Given the description of an element on the screen output the (x, y) to click on. 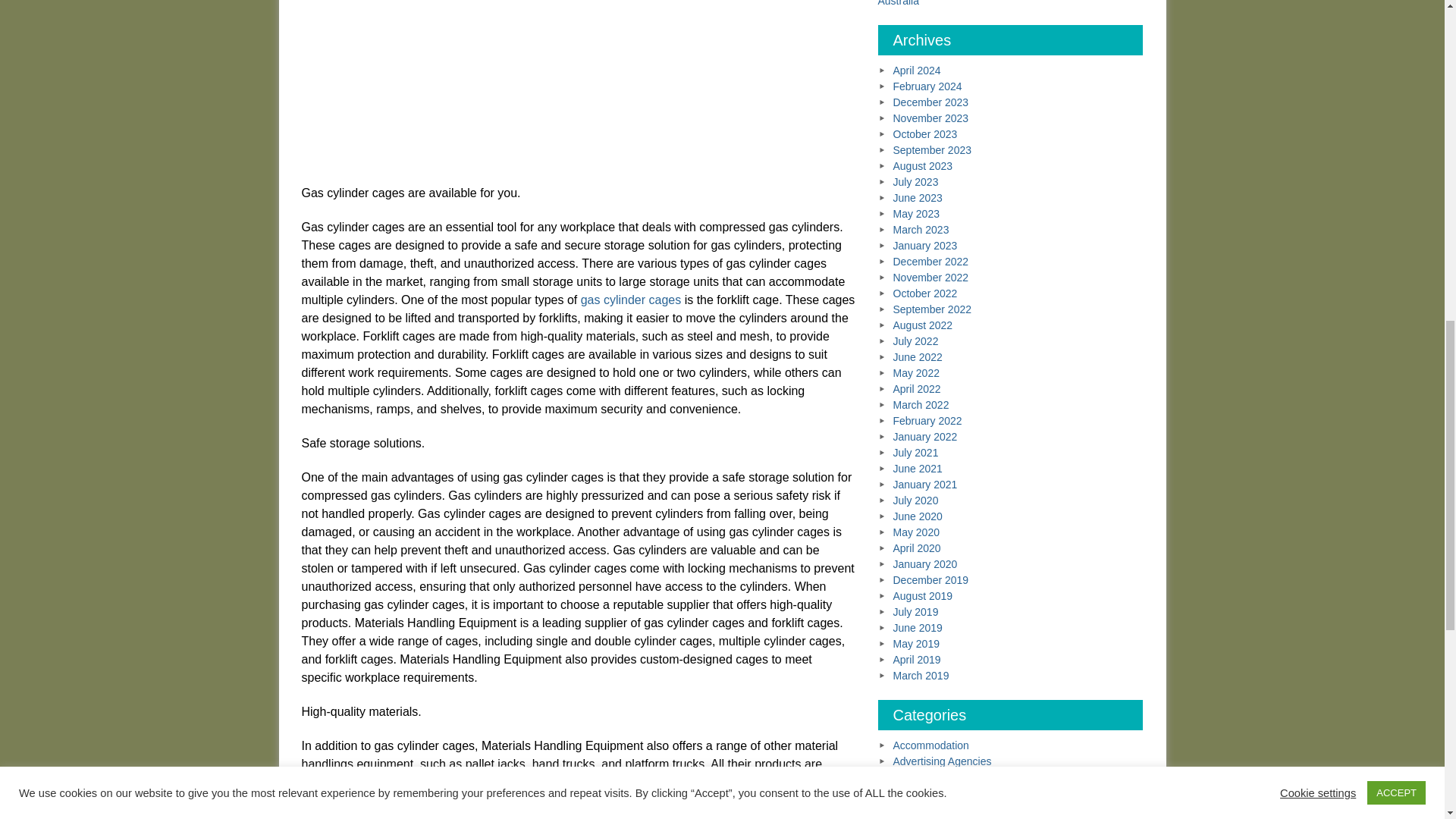
December 2022 (931, 261)
April 2024 (916, 70)
October 2022 (925, 293)
December 2023 (931, 102)
November 2023 (931, 118)
July 2023 (916, 182)
June 2022 (917, 357)
January 2023 (925, 245)
September 2022 (932, 309)
The Best Timber Floor Fix Administrations In Australia (991, 3)
October 2023 (925, 133)
March 2023 (921, 229)
June 2023 (917, 197)
gas cylinder cages (630, 299)
May 2023 (916, 214)
